Given the description of an element on the screen output the (x, y) to click on. 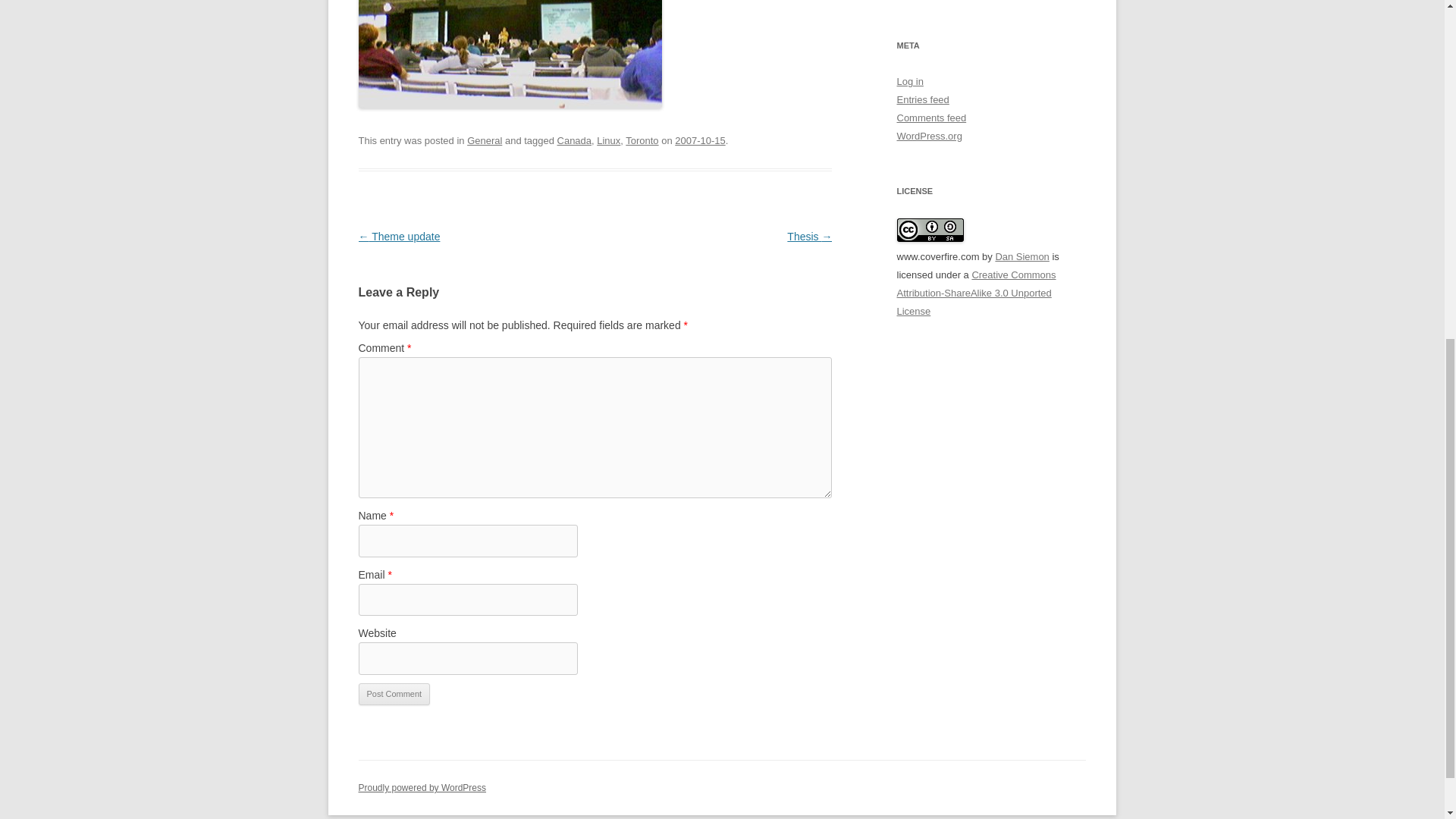
Semantic Personal Publishing Platform (422, 787)
2007-10-15 (700, 140)
General (484, 140)
Linux (608, 140)
Post Comment (393, 694)
1953 (700, 140)
Post Comment (393, 694)
Toronto (642, 140)
Canada (574, 140)
